Given the description of an element on the screen output the (x, y) to click on. 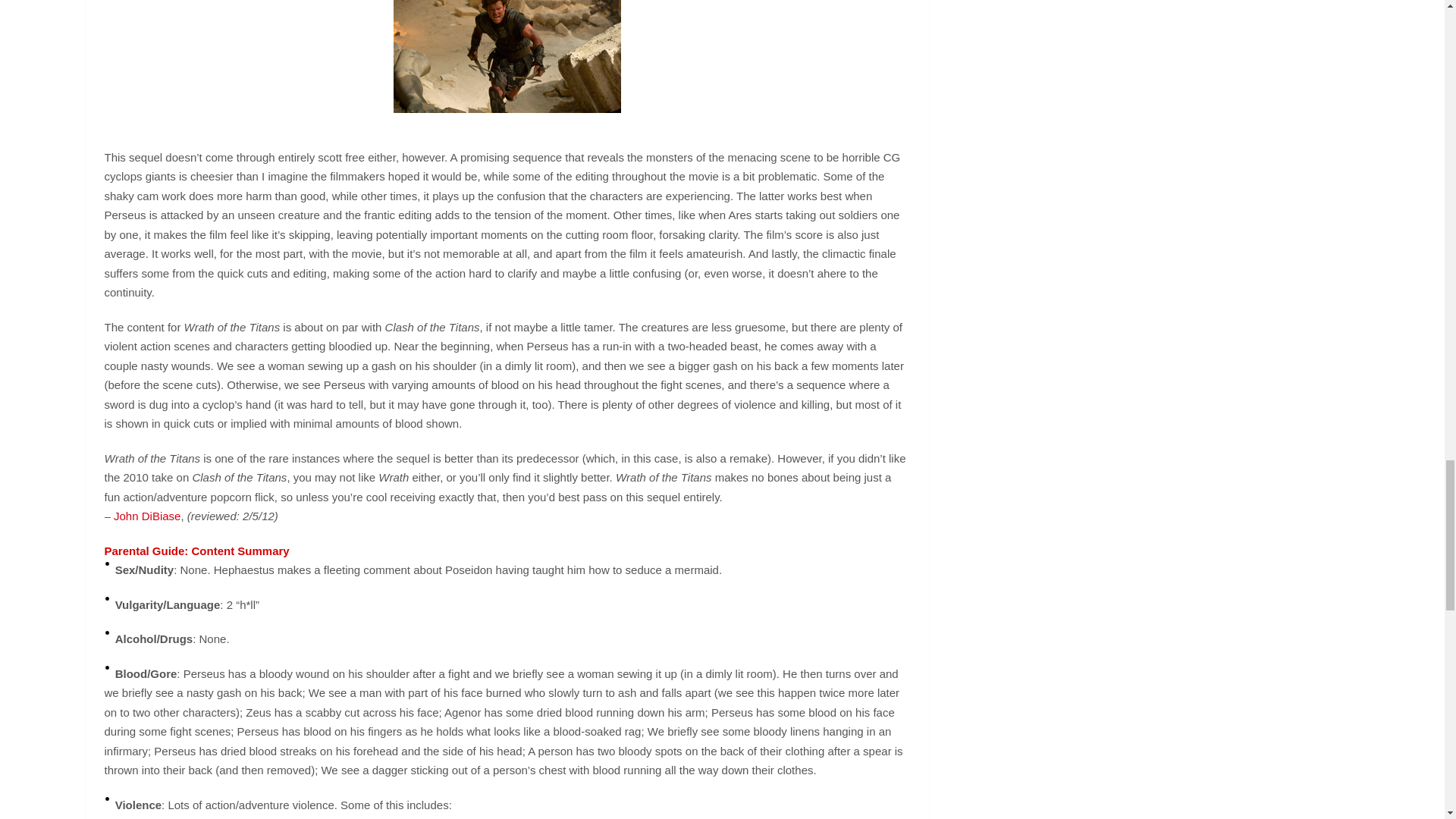
John DiBiase (146, 515)
